Given the description of an element on the screen output the (x, y) to click on. 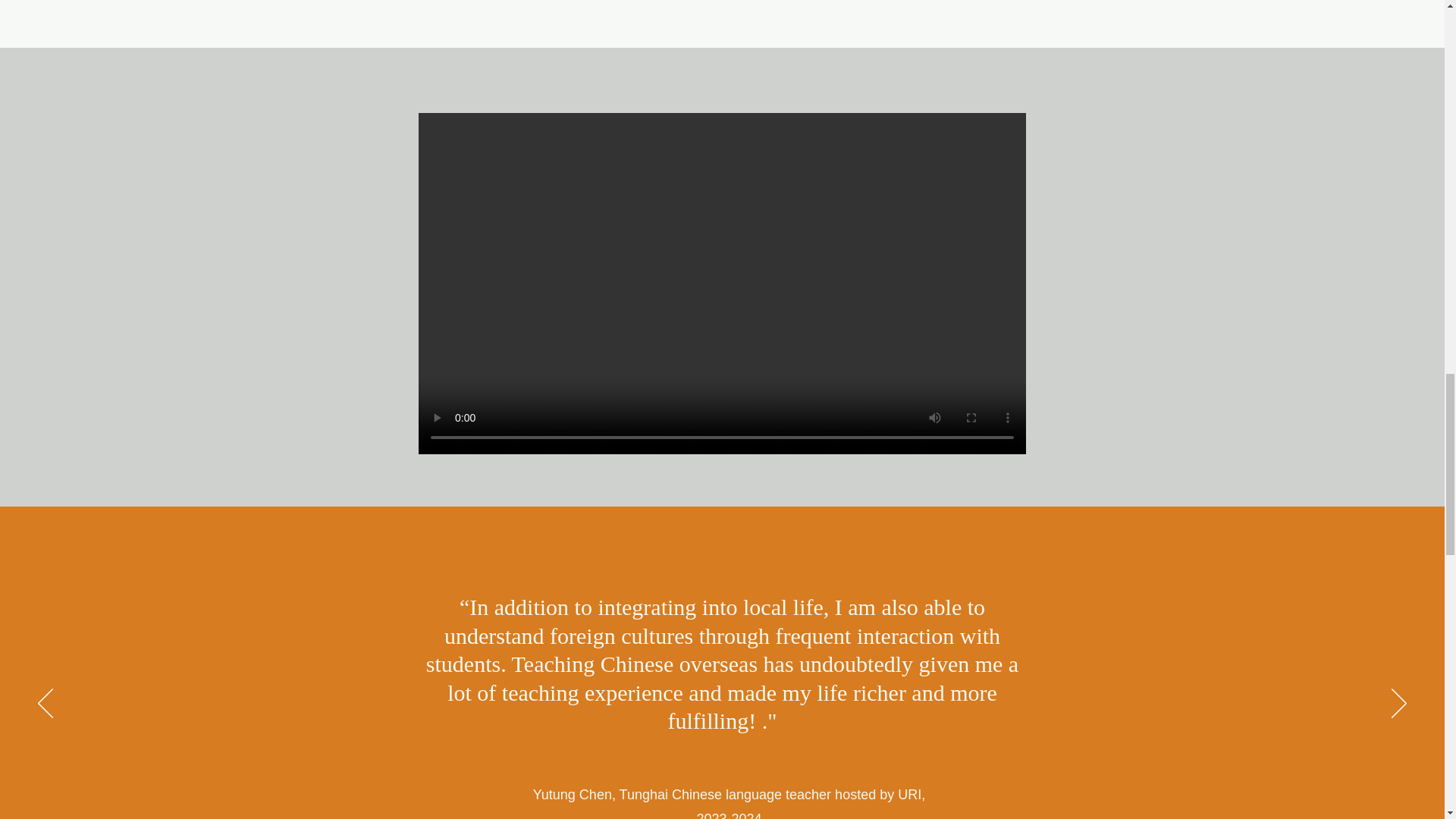
Learn More (721, 277)
